Given the description of an element on the screen output the (x, y) to click on. 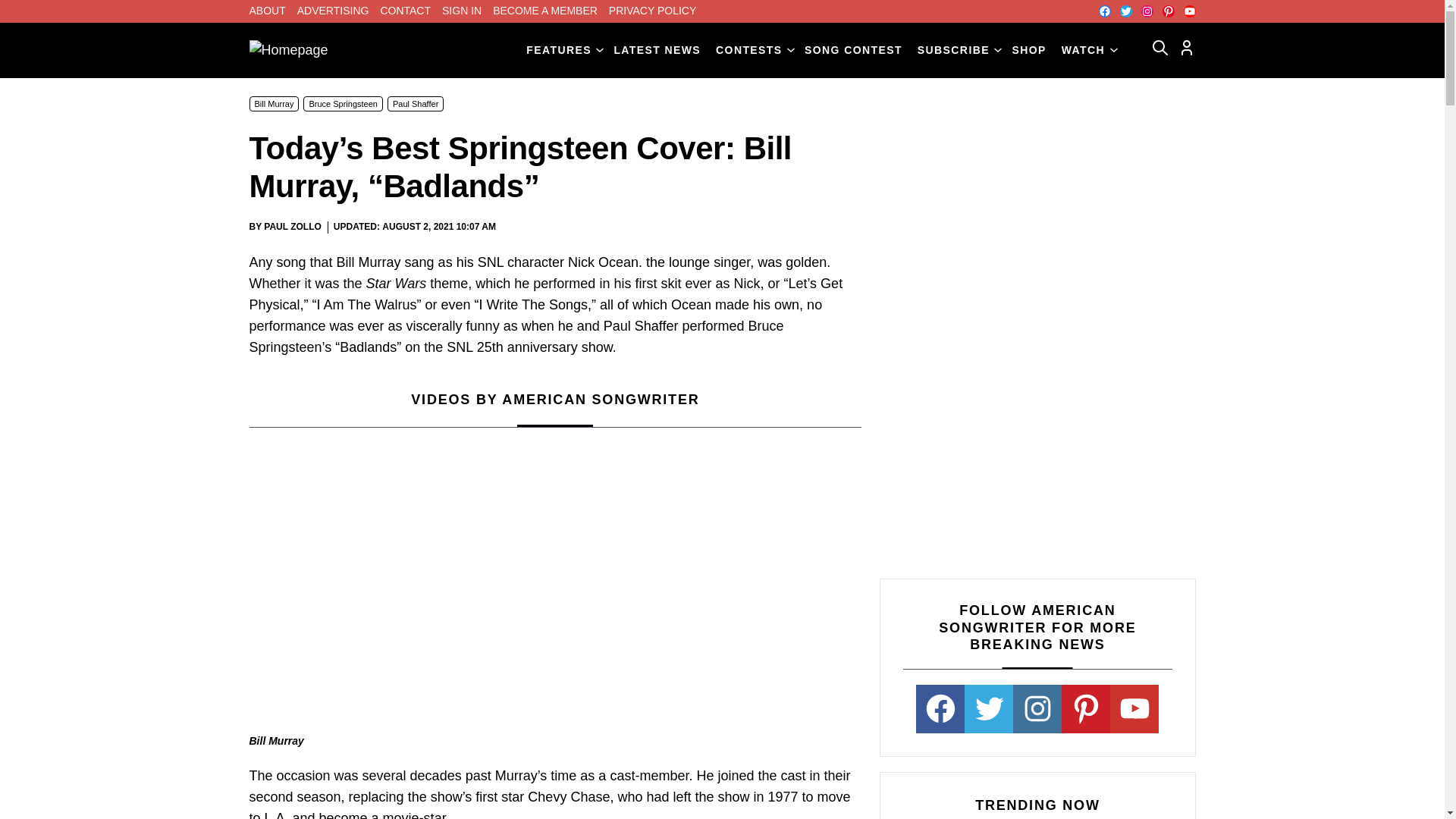
Posts by Paul Zollo (292, 226)
Facebook (1103, 10)
Twitter (1125, 10)
ADVERTISING (333, 10)
BECOME A MEMBER (544, 10)
August 2, 2021 10:07 am (438, 227)
Pinterest (1167, 10)
CONTACT (405, 10)
PRIVACY POLICY (651, 10)
SIGN IN (461, 10)
